Given the description of an element on the screen output the (x, y) to click on. 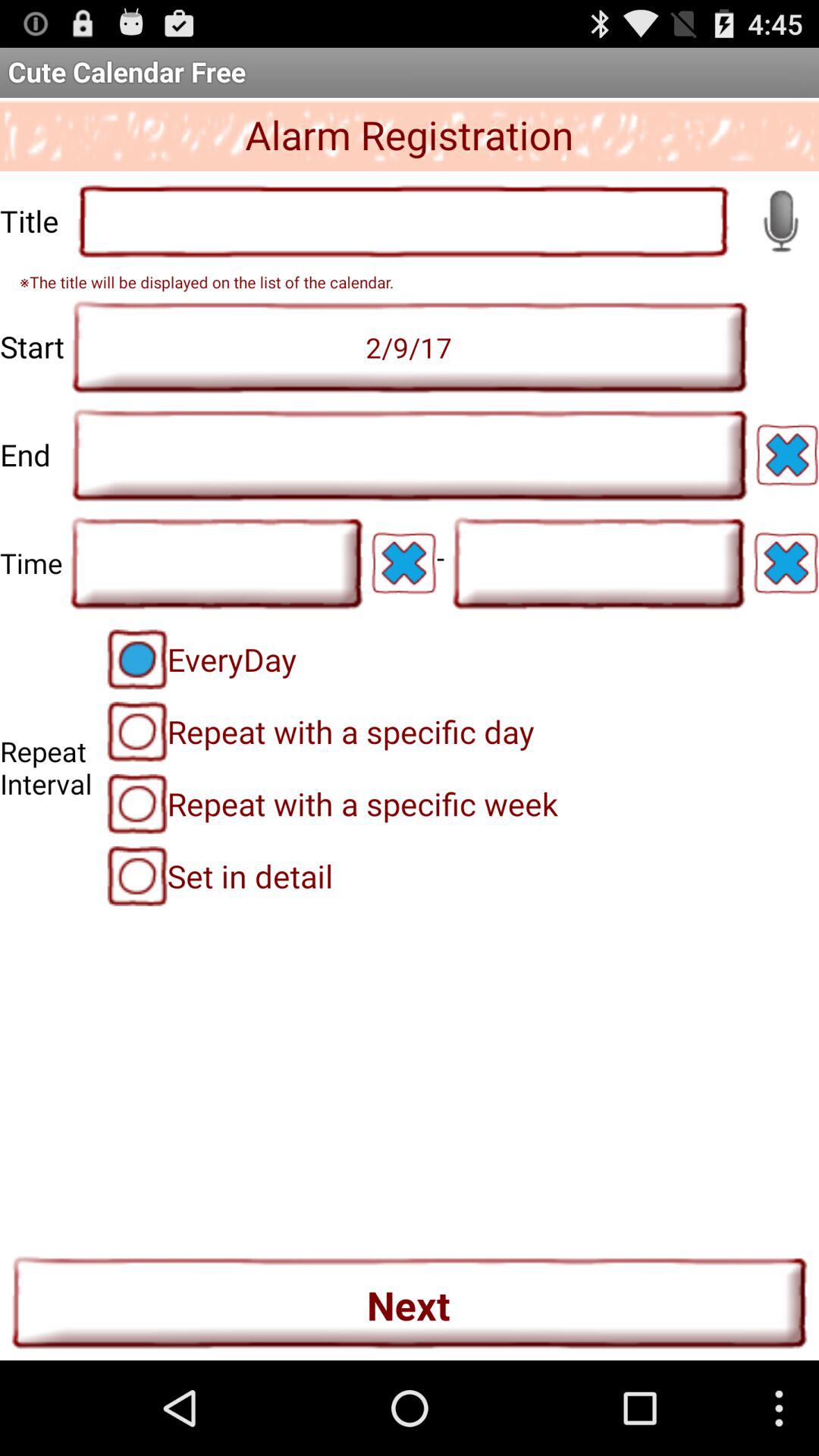
scroll until set in detail item (220, 876)
